Given the description of an element on the screen output the (x, y) to click on. 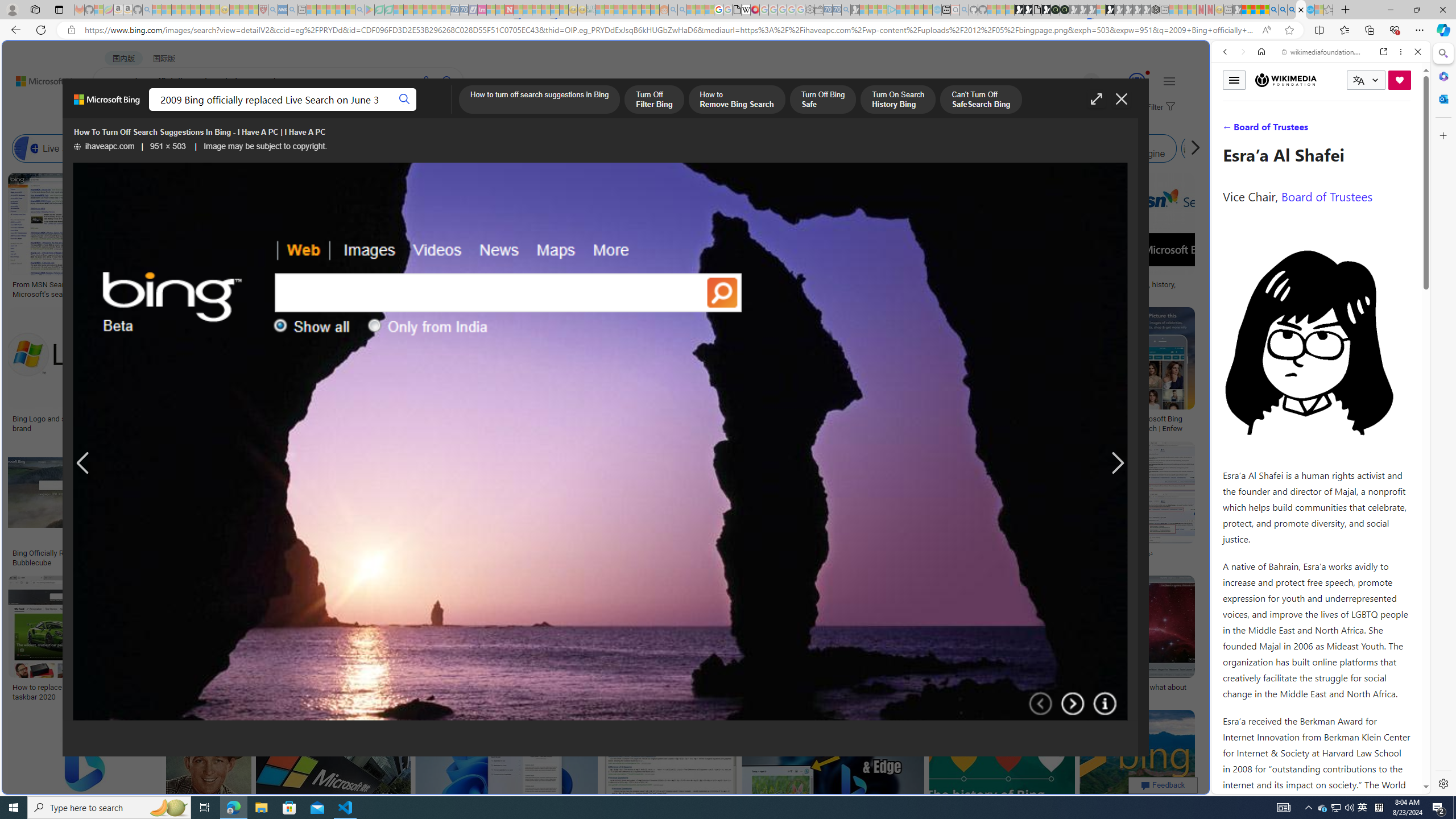
Bing Real Estate - Home sales and rental listings - Sleeping (846, 9)
Remove the 'News & Interests' bar from Bing | TechLife (860, 419)
Bing AI - Search (1272, 9)
Cheap Car Rentals - Save70.com - Sleeping (836, 9)
Class: b_pri_nav_svg (240, 112)
Bing - SEOLendSave (280, 505)
Turn Off Bing Safe (822, 100)
